Given the description of an element on the screen output the (x, y) to click on. 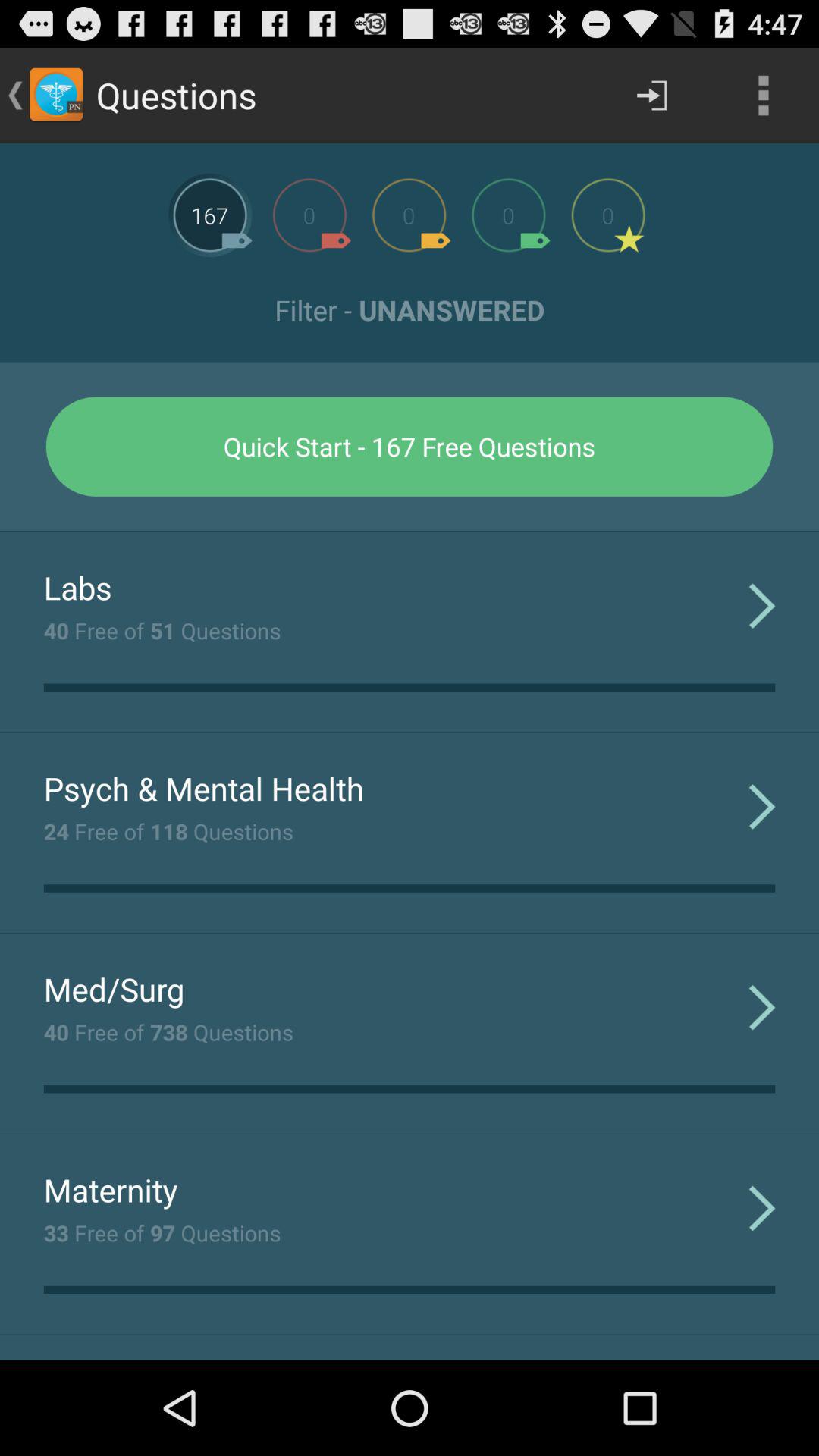
turn on icon above 24 free of app (203, 787)
